Given the description of an element on the screen output the (x, y) to click on. 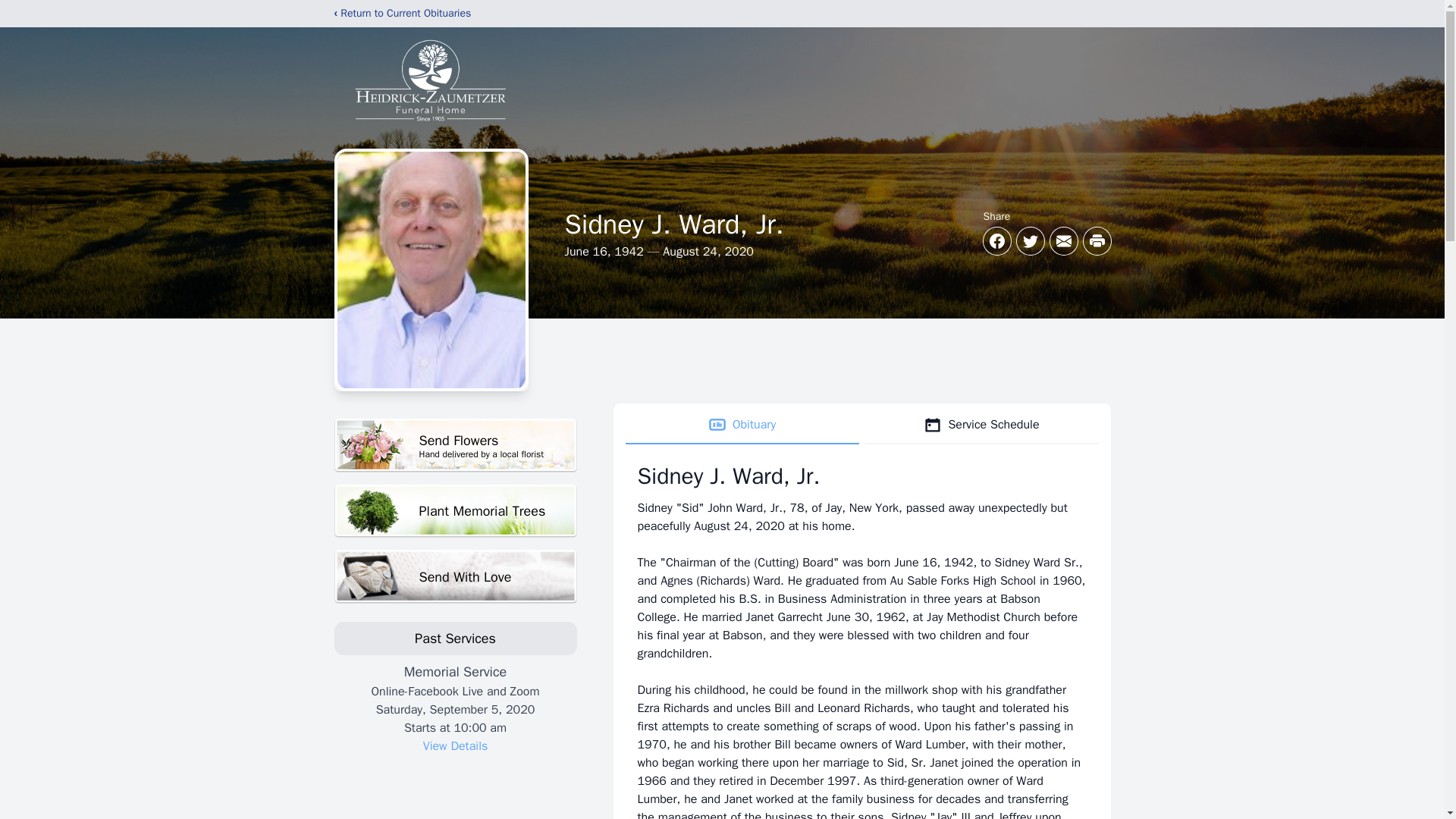
Send With Love (454, 576)
Plant Memorial Trees (454, 511)
Service Schedule (980, 425)
View Details (455, 745)
Obituary (454, 445)
